Given the description of an element on the screen output the (x, y) to click on. 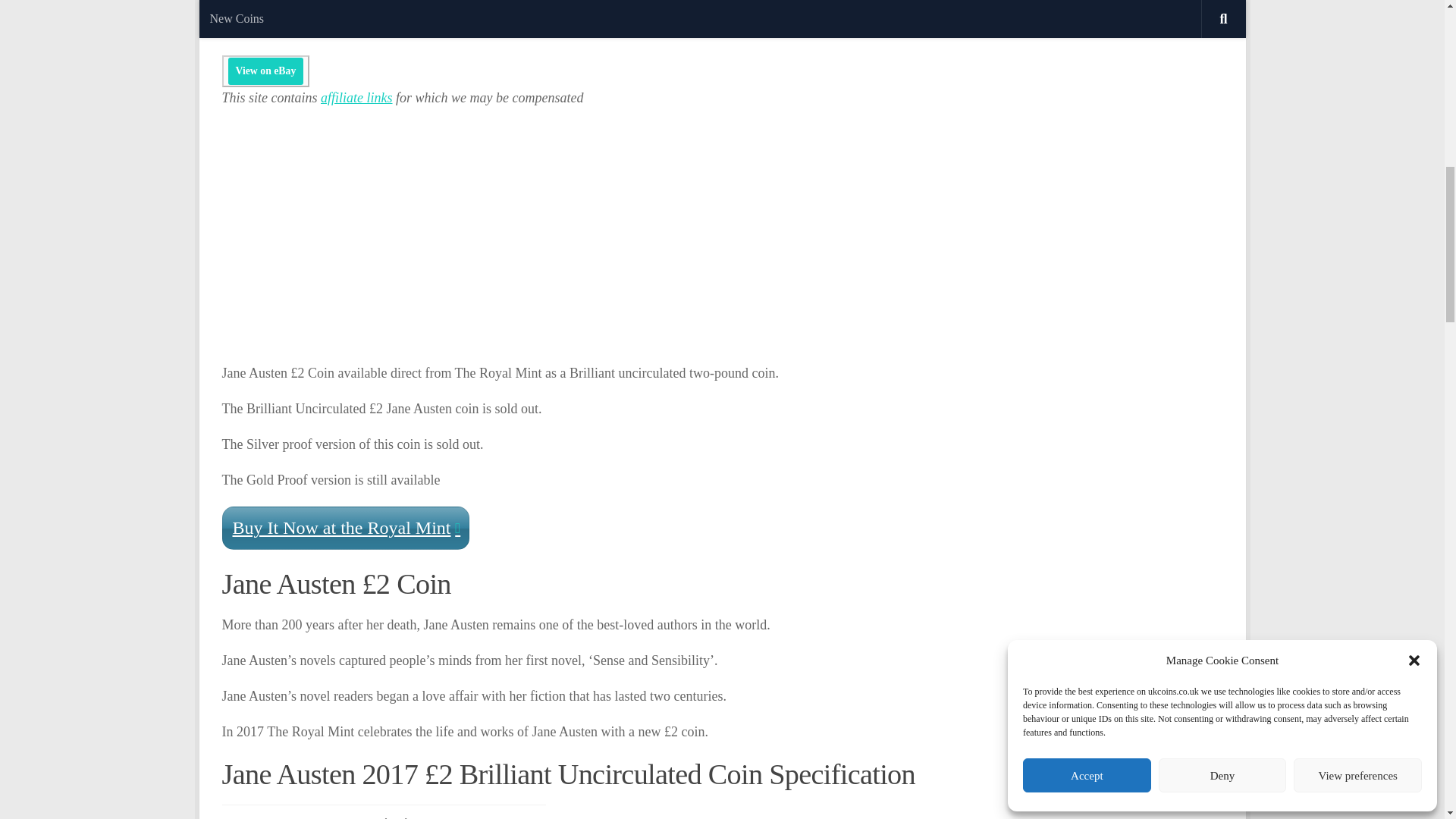
View on eBay (264, 71)
Search RoyalMint.com (286, 17)
